Given the description of an element on the screen output the (x, y) to click on. 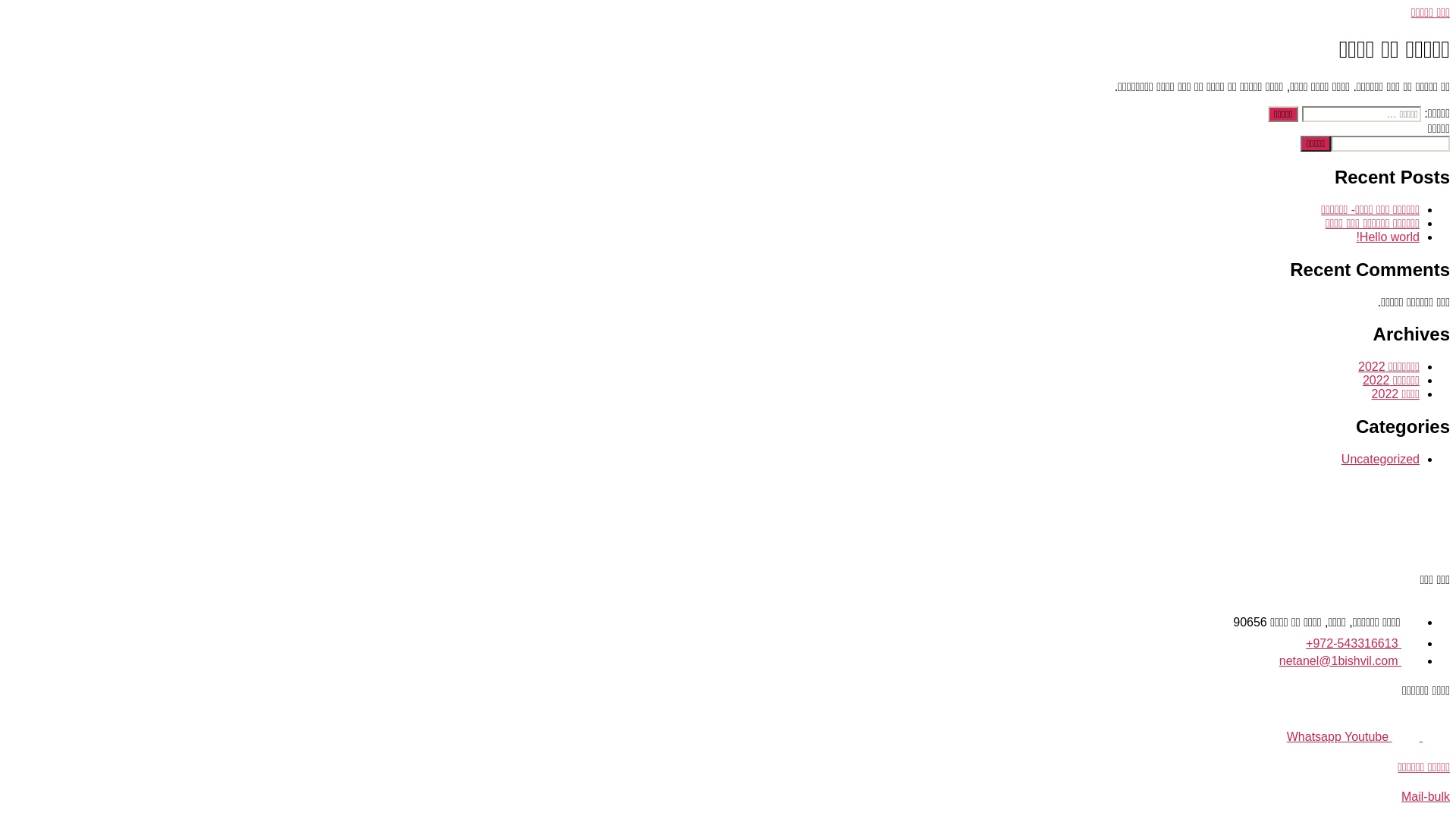
Whatsapp Element type: text (1315, 736)
Hello world! Element type: text (1387, 236)
Mail-bulk Element type: text (1425, 796)
netanel@1bishvil.com Element type: text (1349, 660)
Uncategorized Element type: text (1380, 458)
Group 468 Element type: hover (1349, 516)
Youtube Element type: text (1395, 736)
972-543316613+ Element type: text (1362, 643)
